Given the description of an element on the screen output the (x, y) to click on. 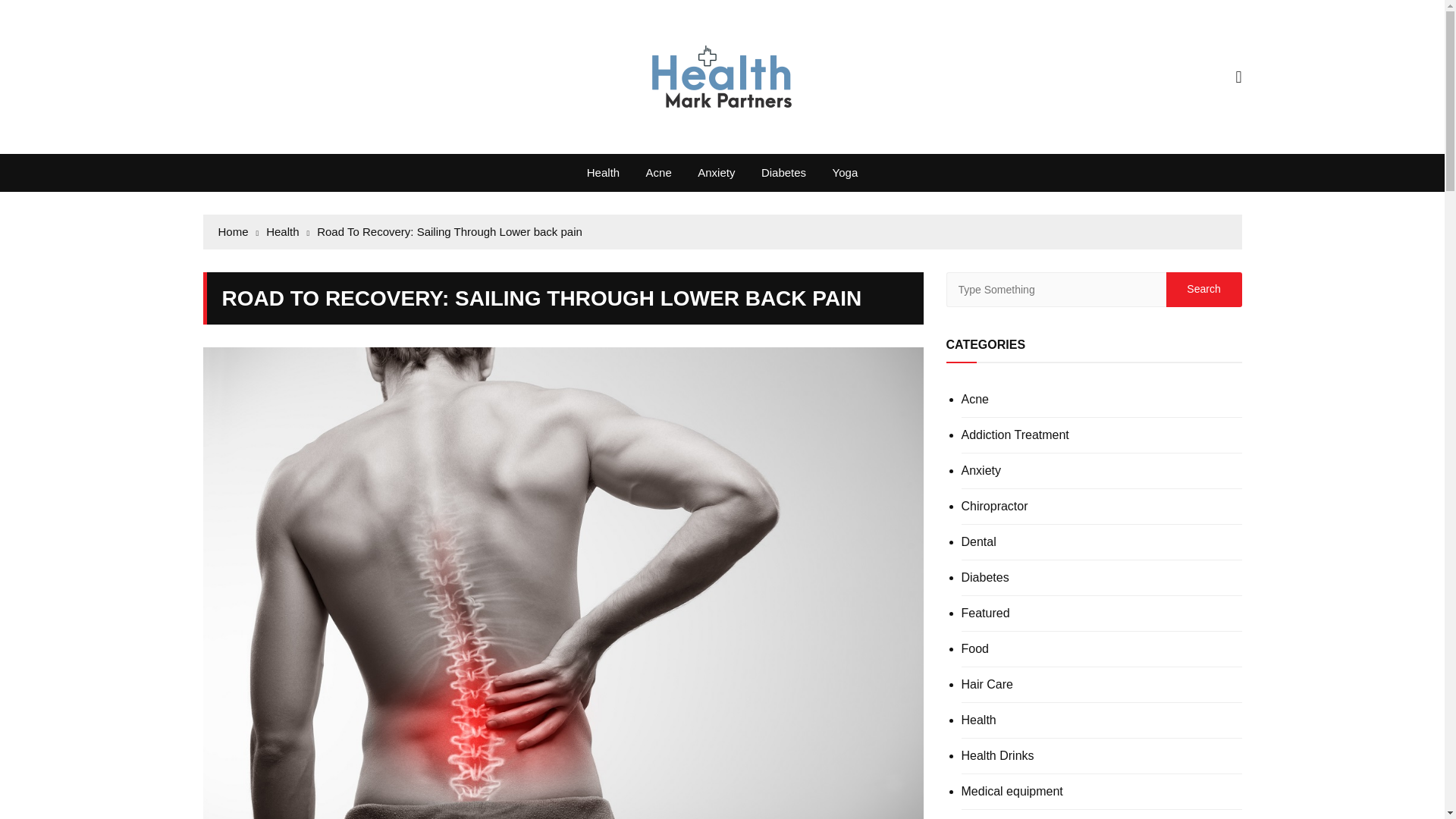
Anxiety (715, 172)
Food (974, 648)
Diabetes (782, 172)
Chiropractor (993, 506)
Road To Recovery: Sailing Through Lower back pain (449, 231)
Search (1203, 289)
Anxiety (980, 470)
Health (287, 231)
Yoga (845, 172)
Medical equipment (1011, 791)
